Given the description of an element on the screen output the (x, y) to click on. 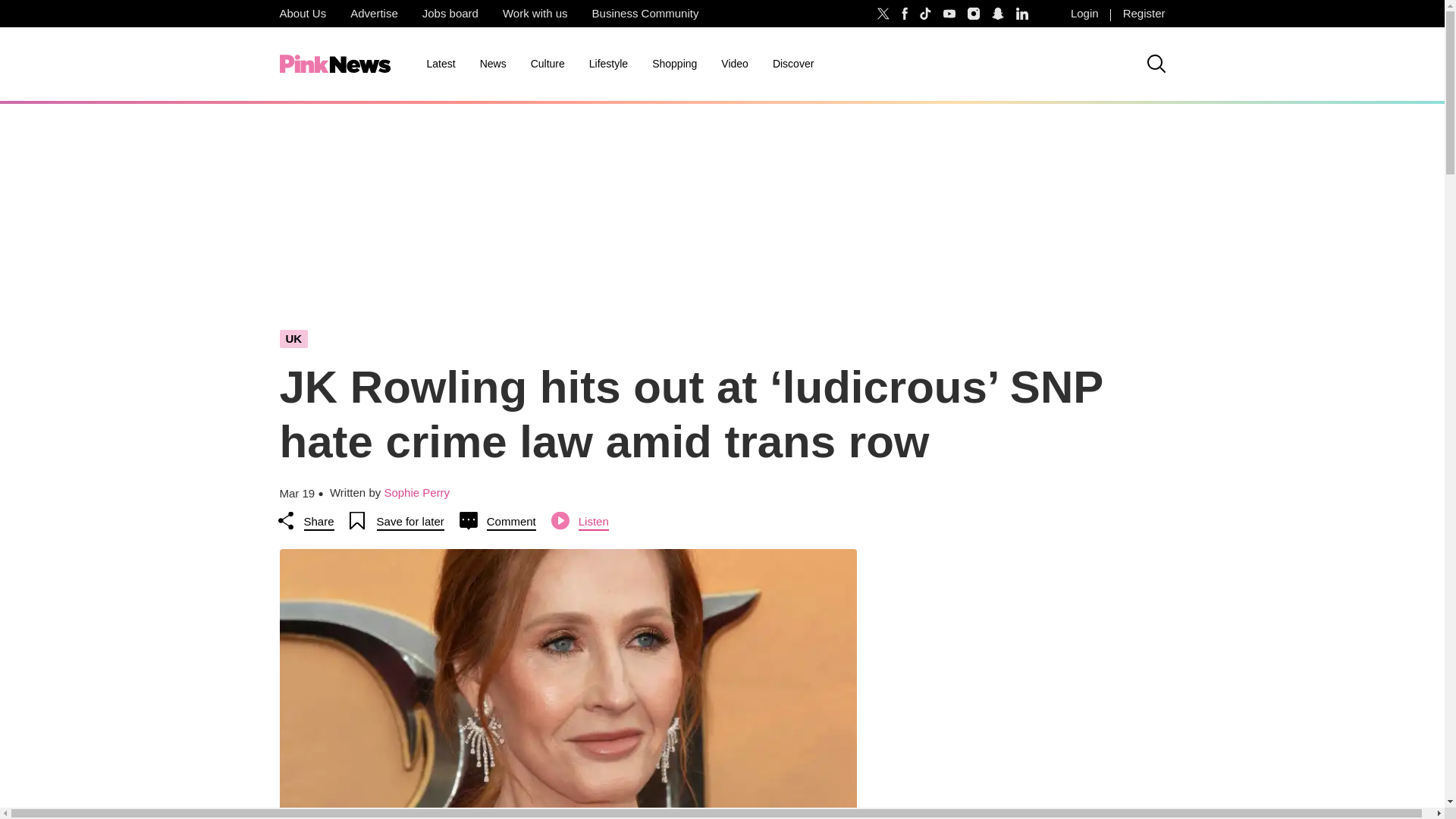
Business Community (645, 13)
Advertise (373, 13)
Jobs board (450, 13)
Work with us (534, 13)
Register (1143, 13)
News (493, 63)
Latest (440, 63)
Follow PinkNews on LinkedIn (1021, 13)
Login (1084, 13)
About Us (301, 13)
